Given the description of an element on the screen output the (x, y) to click on. 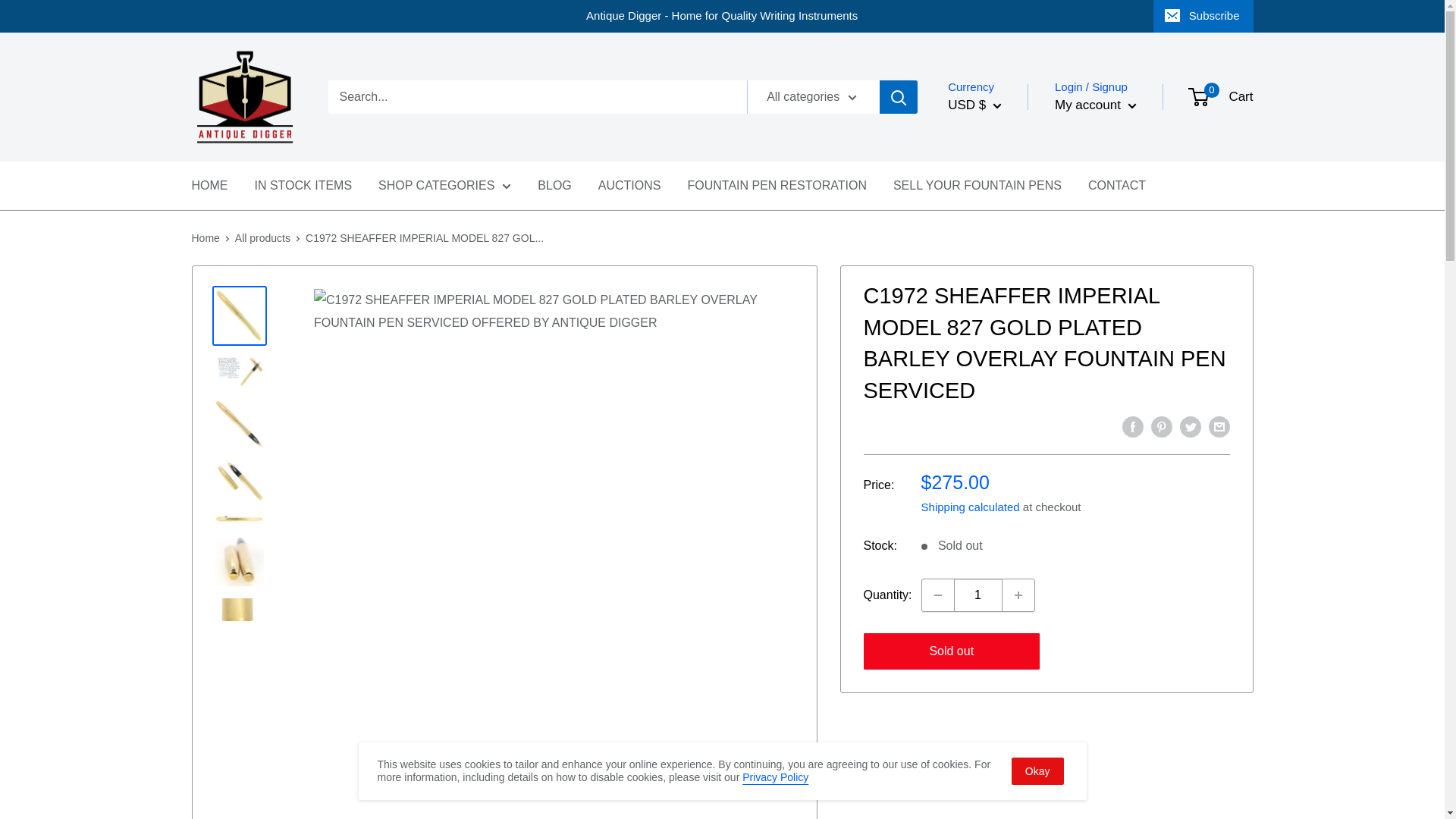
Subscribe (1203, 15)
Decrease quantity by 1 (937, 594)
1 (978, 594)
Increase quantity by 1 (1018, 594)
Privacy Policy (775, 776)
